Given the description of an element on the screen output the (x, y) to click on. 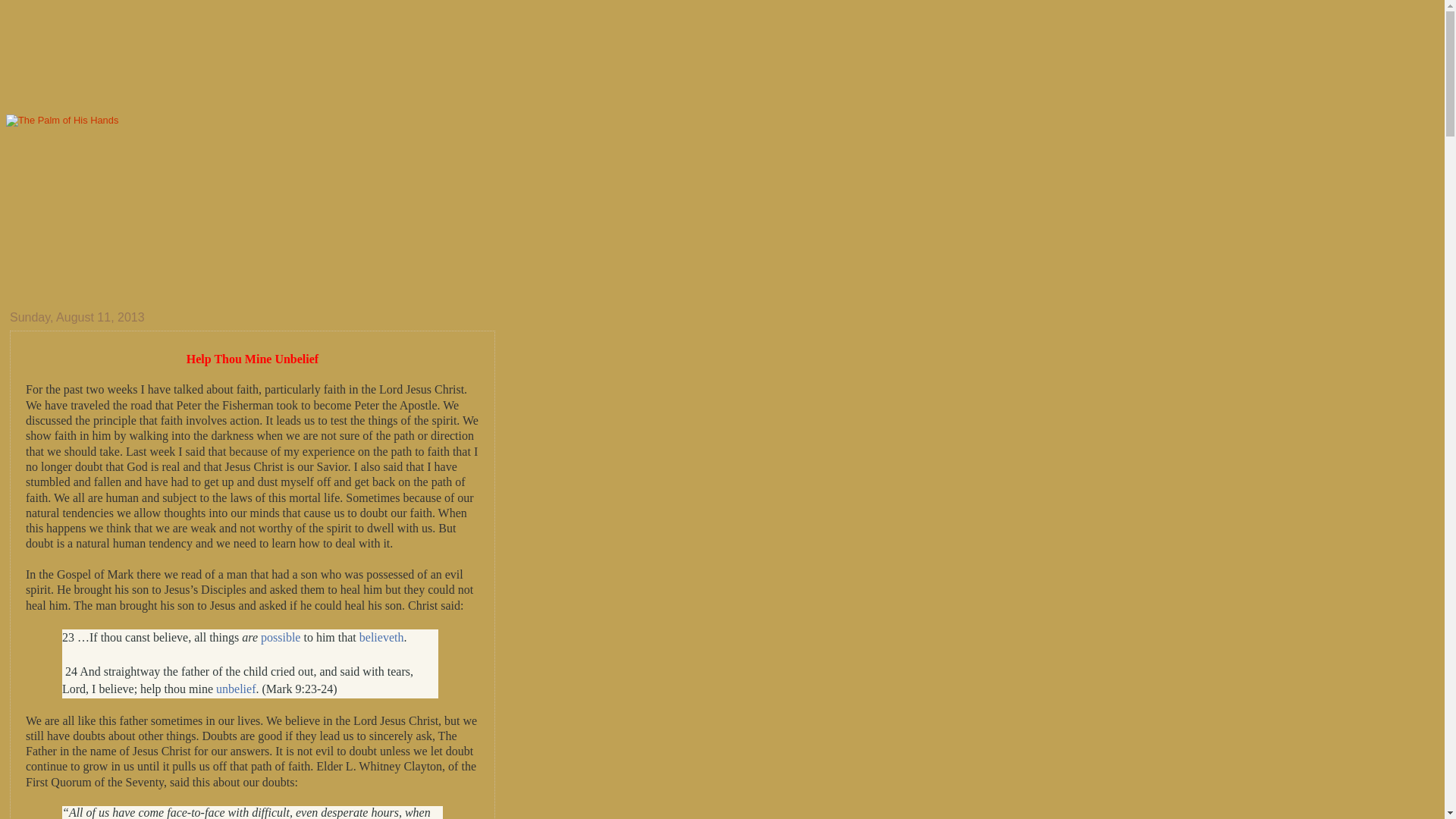
unbelief (235, 688)
believeth (381, 636)
possible (279, 636)
